Given the description of an element on the screen output the (x, y) to click on. 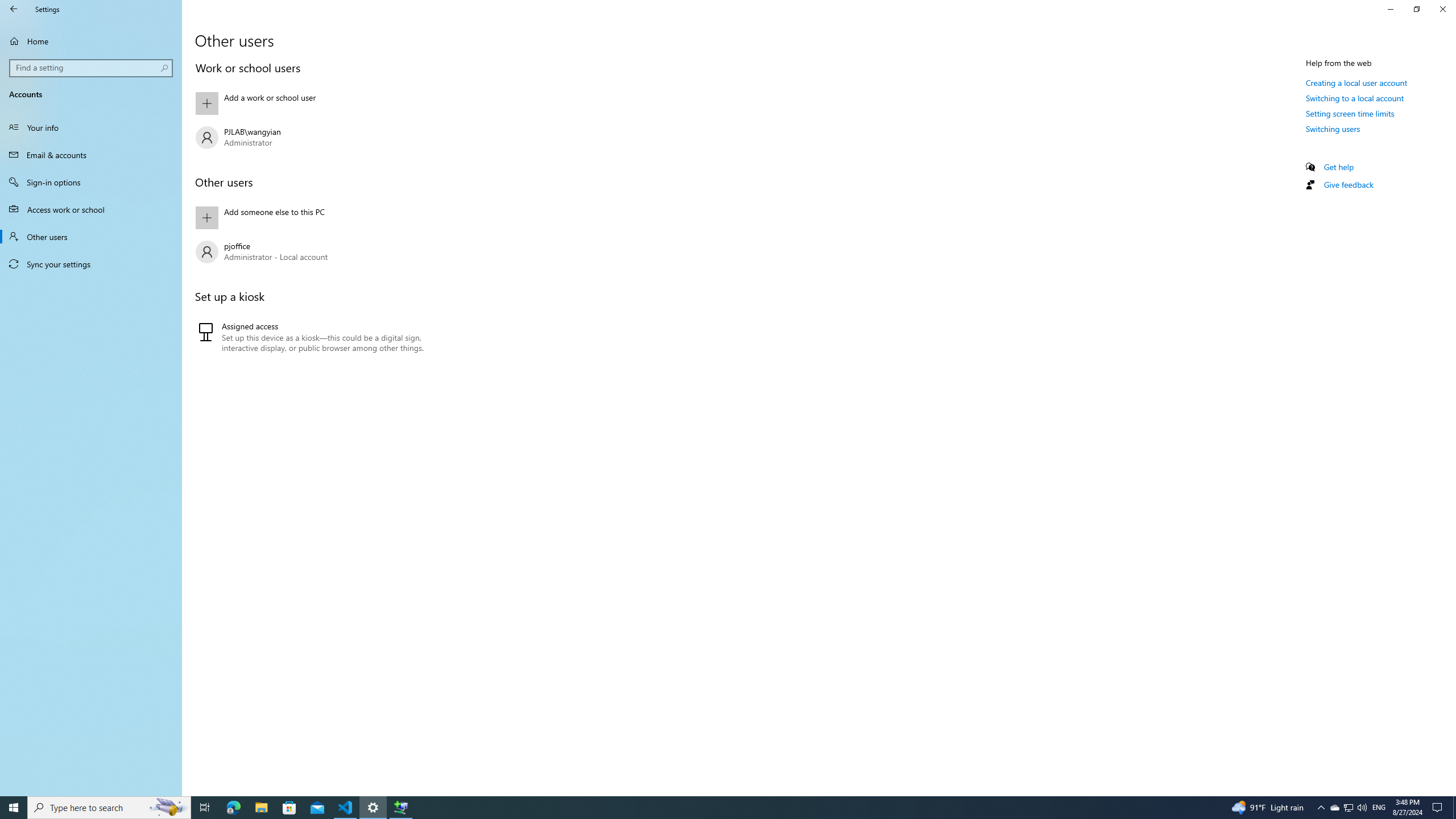
User Promoted Notification Area (1347, 807)
Email & accounts (91, 154)
Restore Settings (1416, 9)
Other users (91, 236)
Give feedback (1348, 184)
Action Center, No new notifications (1439, 807)
File Explorer (261, 807)
Tray Input Indicator - English (United States) (1378, 807)
Microsoft Store (289, 807)
Home (91, 40)
Sign-in options (91, 181)
Your info (91, 126)
Switching users (1332, 128)
